Given the description of an element on the screen output the (x, y) to click on. 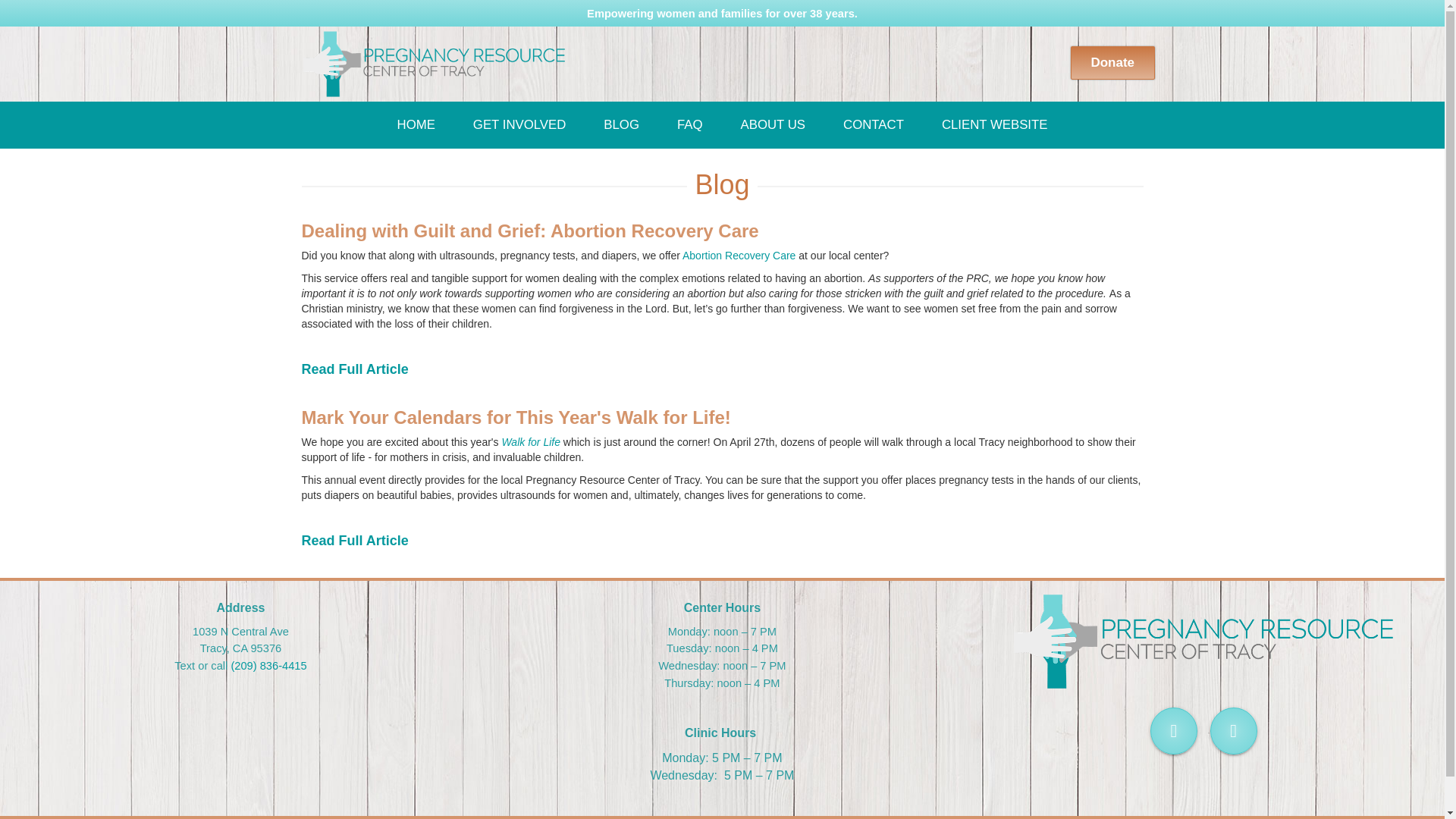
Read Full Article (355, 368)
Abortion Recovery Care (738, 255)
Walk for Life (530, 441)
CONTACT (873, 124)
Friends of the Pregnancy Resource Center of Tracy (433, 63)
CLIENT WEBSITE (994, 124)
HOME (415, 124)
Donate (1112, 61)
BLOG (621, 124)
Read Full Article (355, 540)
GET INVOLVED (518, 124)
ABOUT US (772, 124)
FAQ (689, 124)
